Given the description of an element on the screen output the (x, y) to click on. 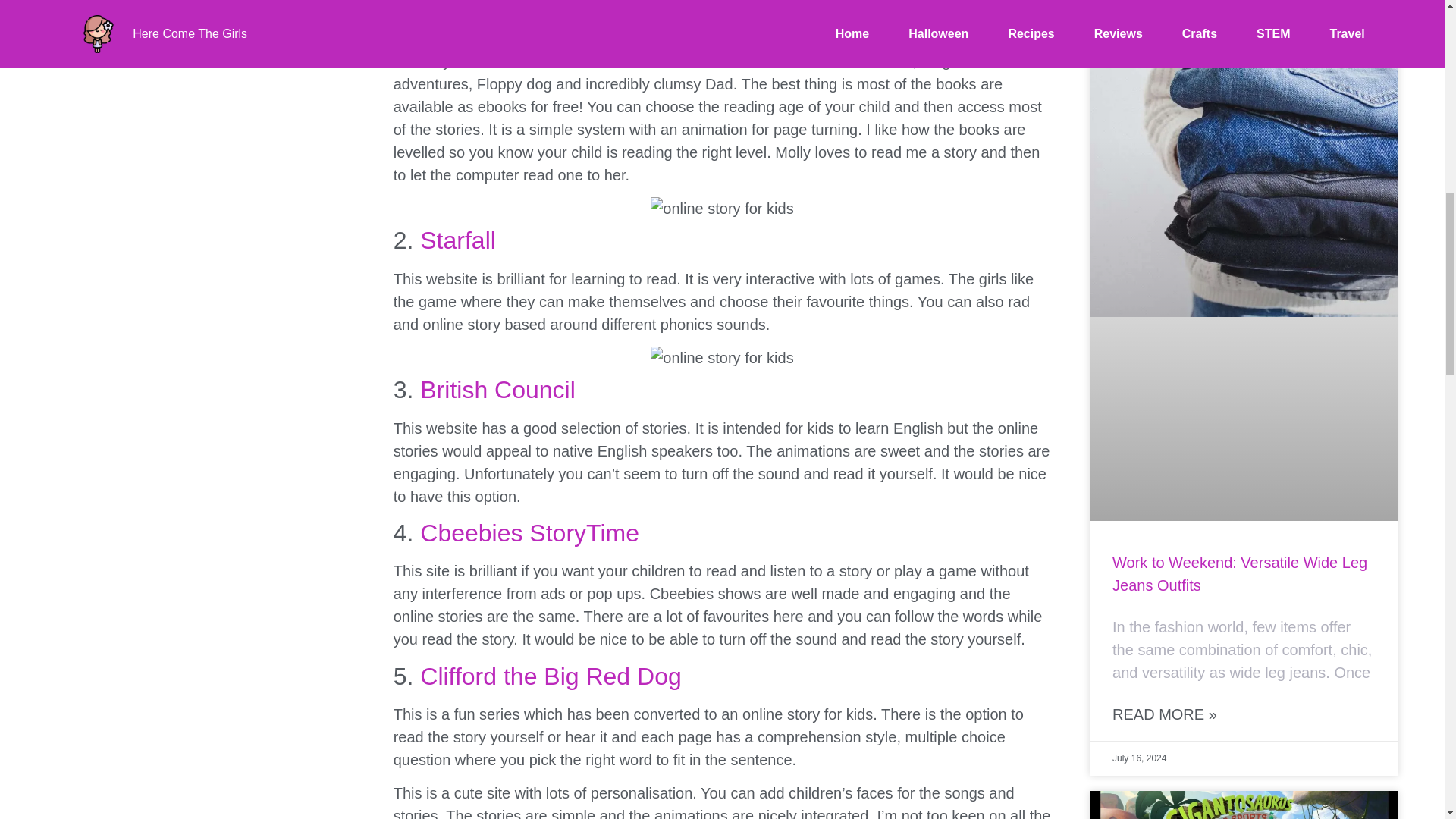
British Council (497, 389)
Clifford the Big Red Dog (550, 676)
Starfall (458, 239)
Cbeebies StoryTime (529, 533)
Oxford Owl (480, 7)
